Given the description of an element on the screen output the (x, y) to click on. 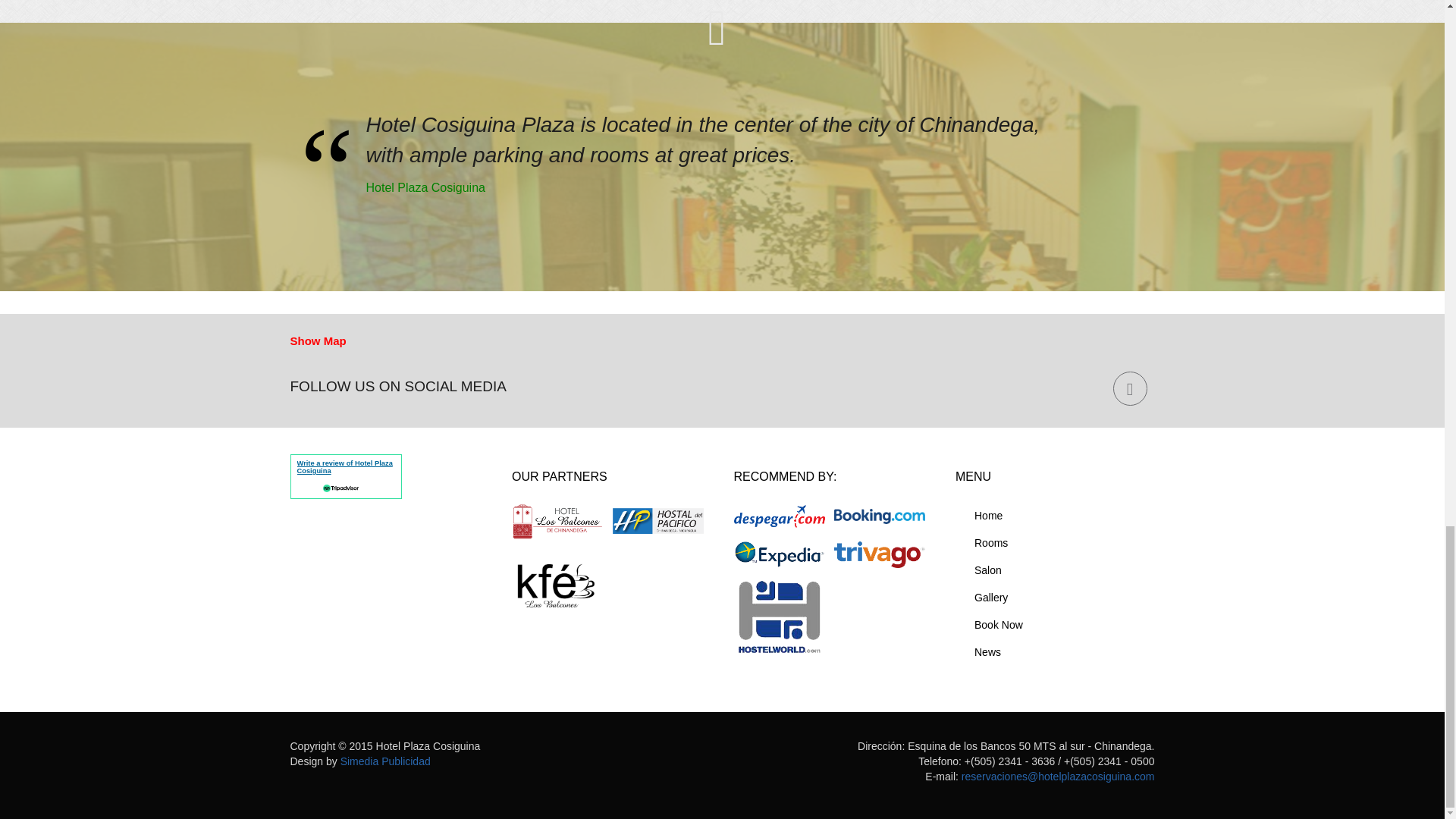
Hotel Plaza Cosiguina (717, 187)
Book Now (1054, 625)
Write a review of Hotel Plaza Cosiguina (345, 467)
Simedia Publicidad (385, 761)
Gallery (1054, 597)
Salon (1054, 570)
Rooms (1054, 543)
Show Map (317, 340)
News (1054, 652)
Home (1054, 515)
